Given the description of an element on the screen output the (x, y) to click on. 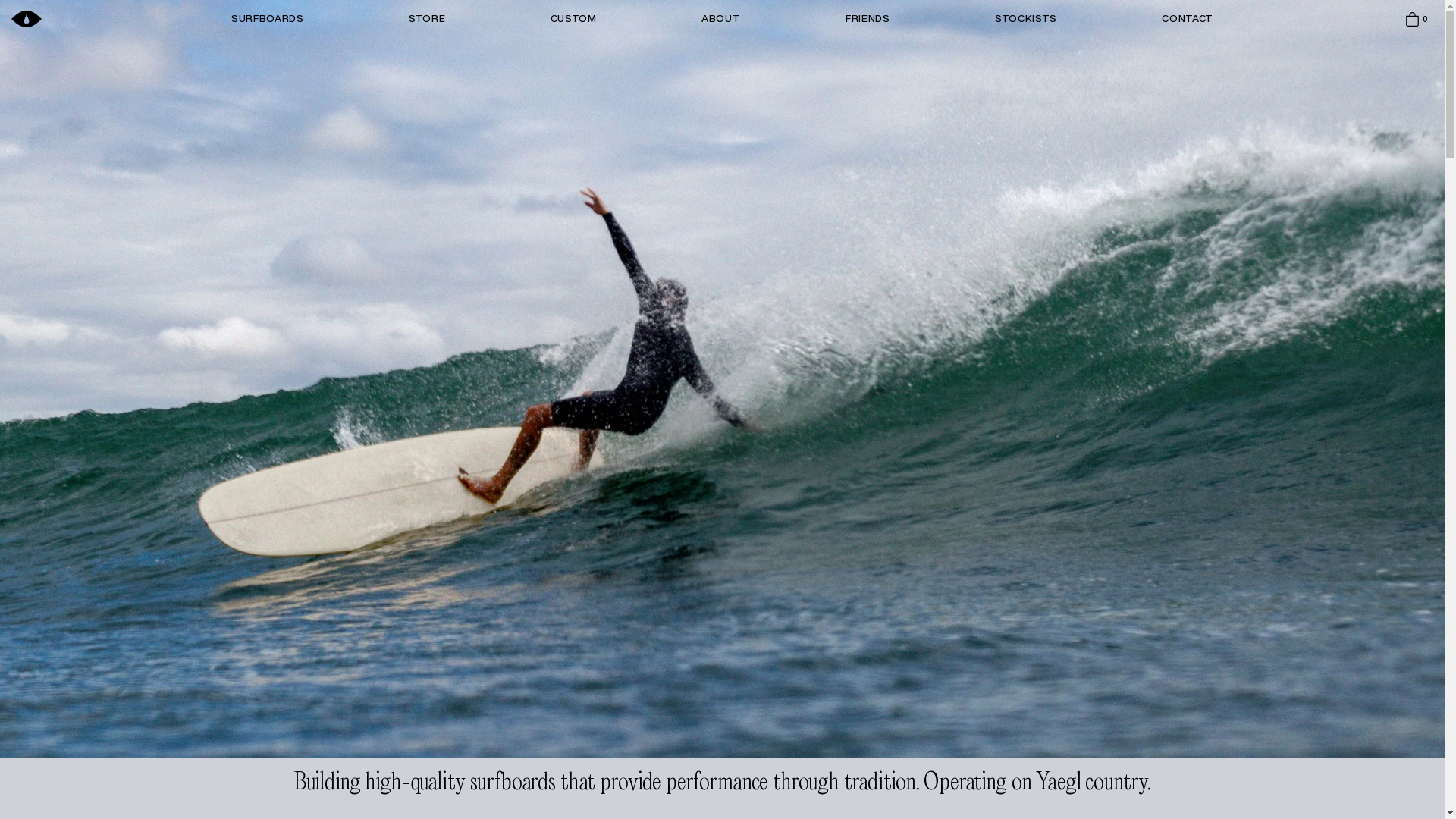
ABOUT Element type: text (720, 18)
SURFBOARDS Element type: text (267, 18)
STORE Element type: text (426, 18)
CUSTOM Element type: text (573, 18)
STOCKISTS Element type: text (1025, 18)
0 Element type: text (1417, 18)
FRIENDS Element type: text (867, 18)
CONTACT Element type: text (1187, 18)
